Given the description of an element on the screen output the (x, y) to click on. 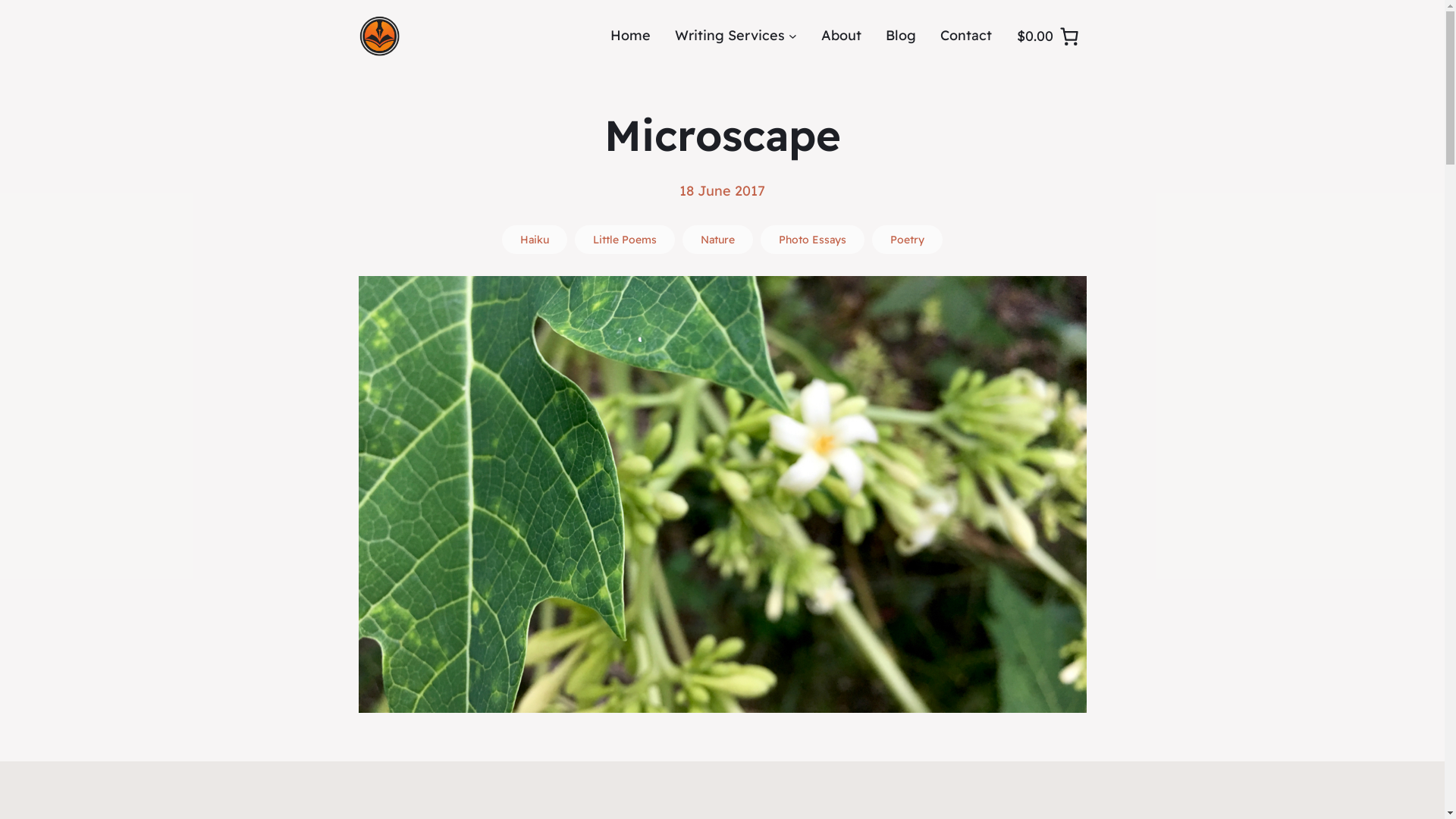
Nature Element type: text (717, 239)
Home Element type: text (630, 35)
Poetry Element type: text (907, 239)
Contact Element type: text (965, 35)
Haiku Element type: text (534, 239)
$0.00 Element type: text (1048, 35)
Photo Essays Element type: text (812, 239)
18 June 2017 Element type: text (722, 190)
Blog Element type: text (900, 35)
Writing Services Element type: text (729, 35)
About Element type: text (840, 35)
Little Poems Element type: text (624, 239)
